Given the description of an element on the screen output the (x, y) to click on. 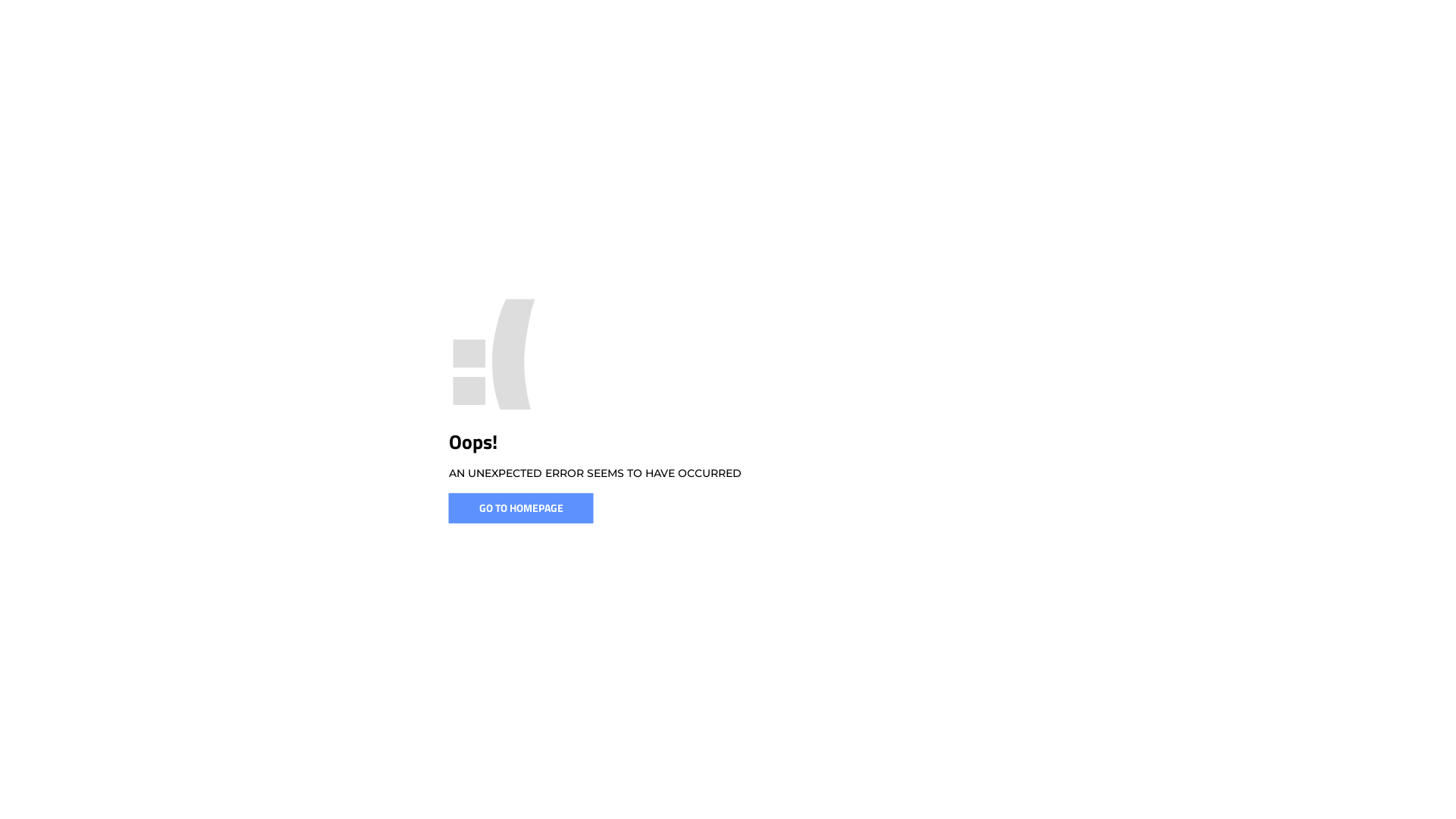
GO TO HOMEPAGE Element type: text (520, 507)
